Given the description of an element on the screen output the (x, y) to click on. 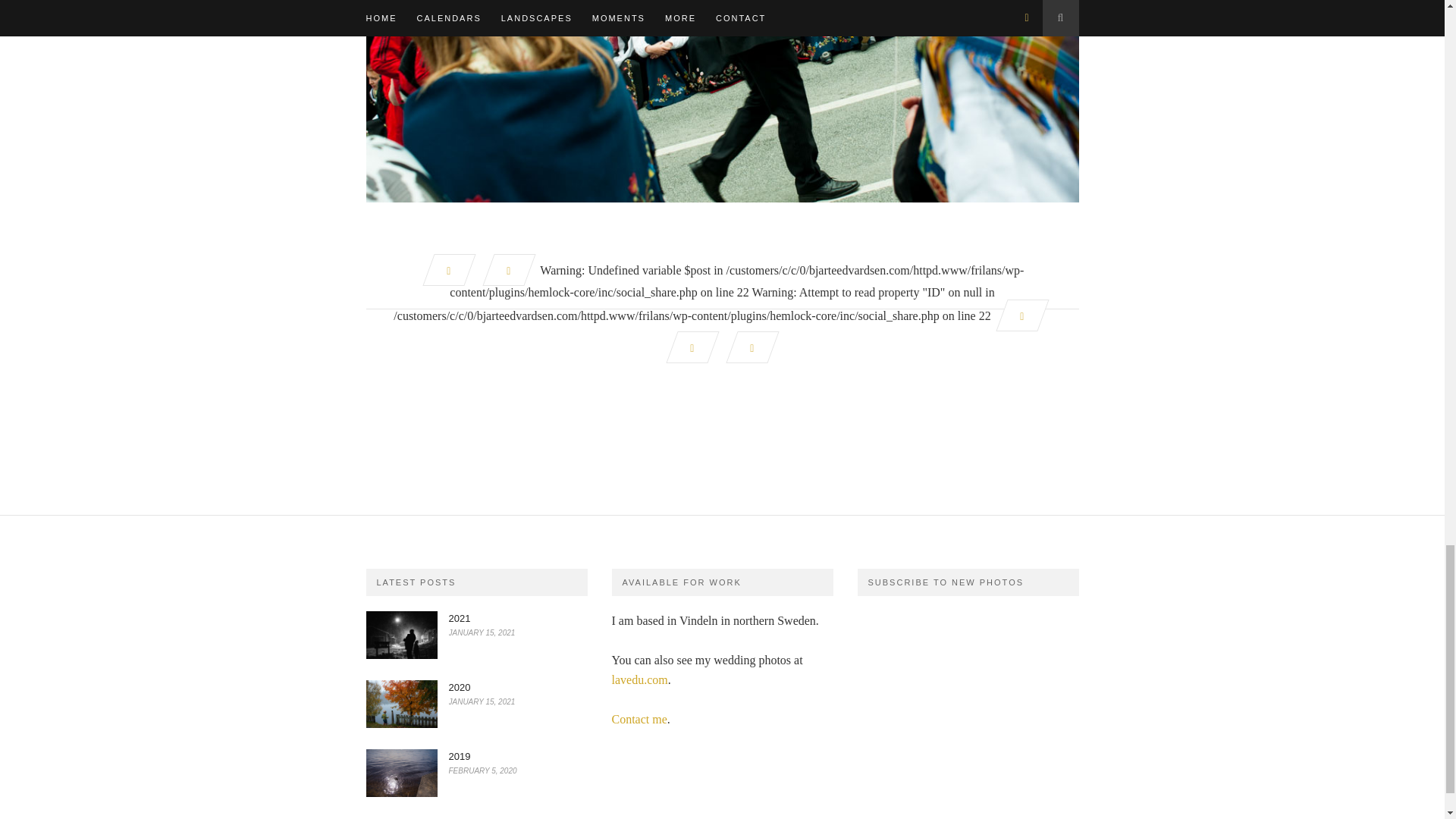
2021 (459, 618)
Contact me (638, 718)
2020 (459, 686)
2019 (459, 756)
lavedu.com (638, 679)
